Given the description of an element on the screen output the (x, y) to click on. 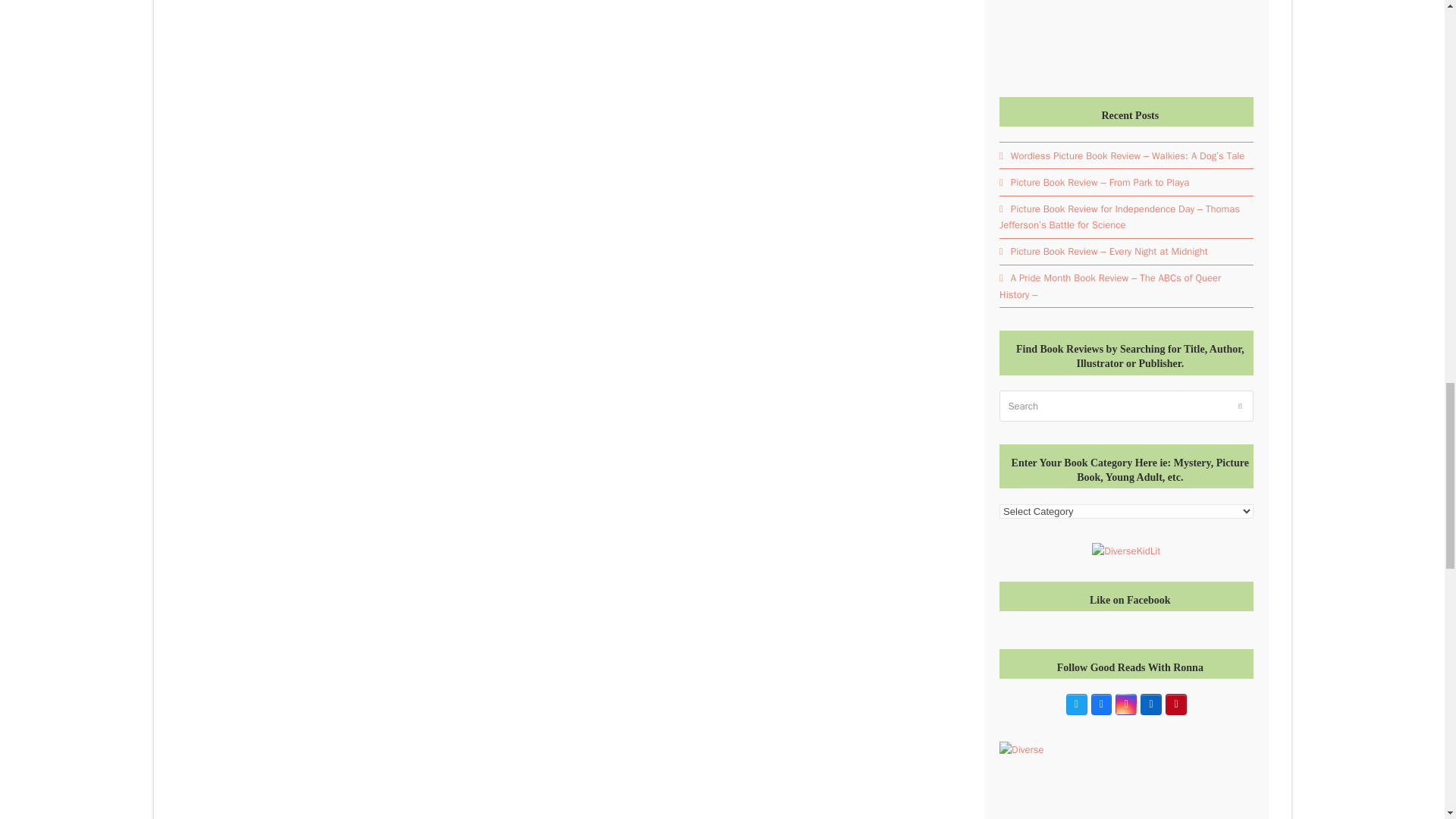
Pinterest (1176, 703)
Facebook (1101, 703)
Twitter (1076, 703)
LinkedIn (1150, 703)
Instagram (1126, 703)
Instagram (1126, 703)
Twitter (1076, 703)
Submit (1239, 405)
DiverseKidLit (1126, 550)
Facebook (1101, 703)
